Given the description of an element on the screen output the (x, y) to click on. 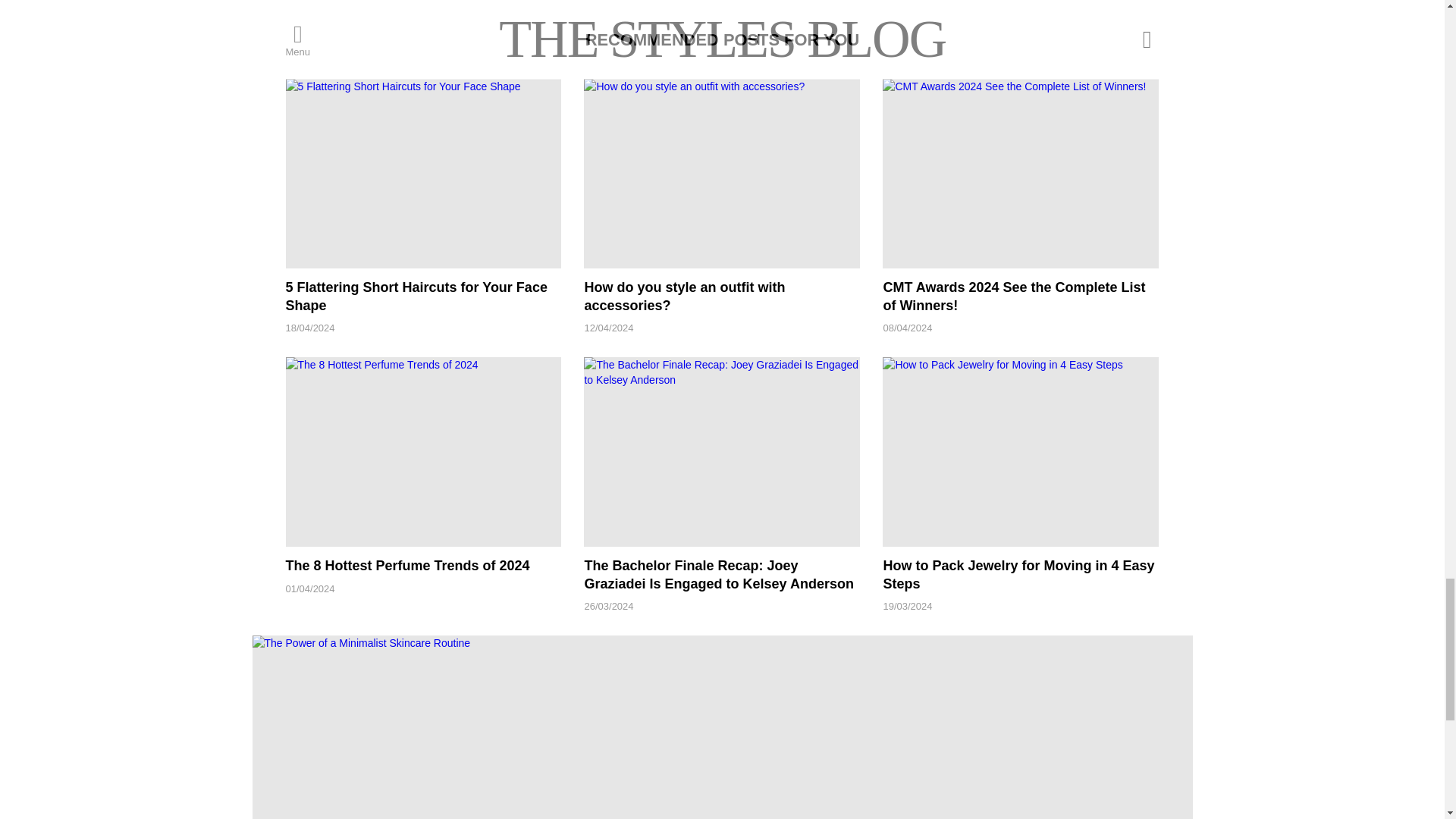
The 8 Hottest Perfume Trends of 2024 (422, 452)
The 8 Hottest Perfume Trends of 2024 (407, 565)
5 Flattering Short Haircuts for Your Face Shape (416, 296)
CMT Awards 2024 See the Complete List of Winners! (1013, 296)
5 Flattering Short Haircuts for Your Face Shape (422, 173)
How do you style an outfit with accessories? (683, 296)
How to Pack Jewelry for Moving in 4 Easy Steps (1018, 574)
How to Pack Jewelry for Moving in 4 Easy Steps (1020, 452)
CMT Awards 2024  See the Complete List of Winners! (1020, 173)
How do you style an outfit with accessories? (721, 173)
